Given the description of an element on the screen output the (x, y) to click on. 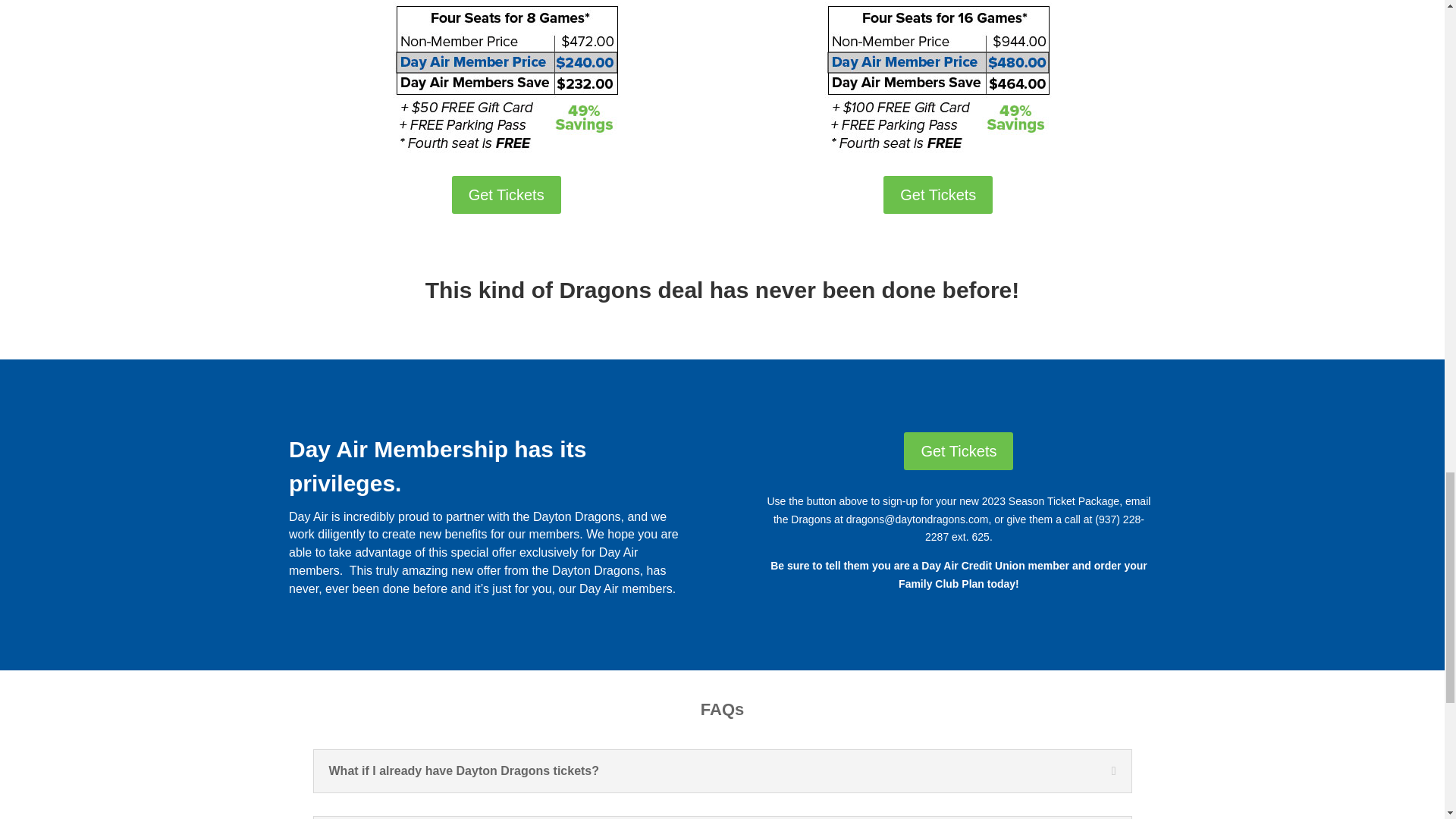
Get Tickets (505, 194)
4-Seats-8-Games (506, 77)
4-Seats-16-Games (937, 77)
Get Tickets (958, 451)
Get Tickets (937, 194)
